Given the description of an element on the screen output the (x, y) to click on. 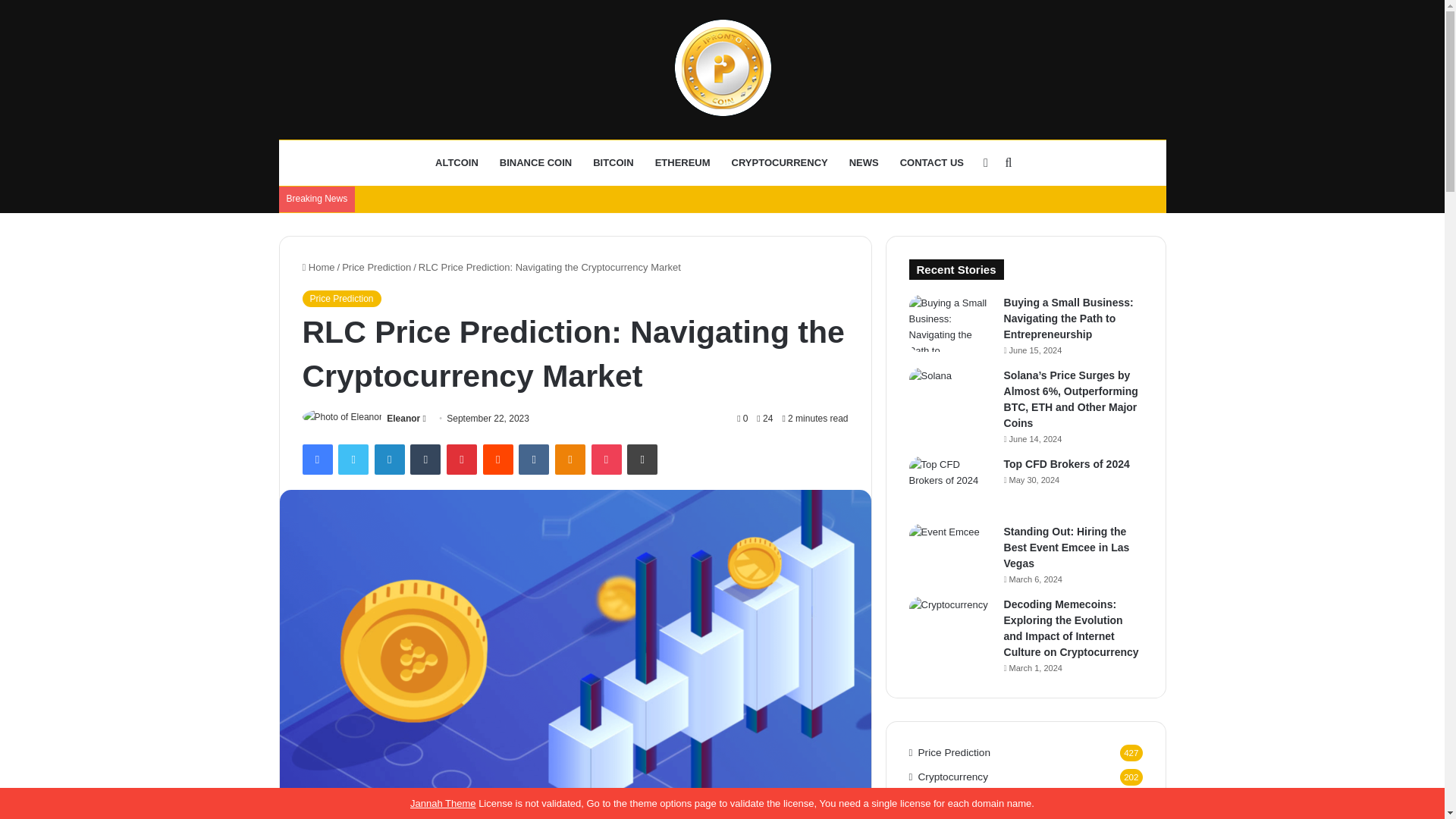
Price Prediction (340, 298)
Jannah Theme (443, 803)
Price Prediction (376, 266)
VKontakte (533, 459)
Facebook (316, 459)
BINANCE COIN (535, 162)
Print (642, 459)
Pocket (606, 459)
Facebook (316, 459)
Odnoklassniki (569, 459)
Reddit (498, 459)
Pinterest (461, 459)
Tumblr (425, 459)
Odnoklassniki (569, 459)
LinkedIn (389, 459)
